Given the description of an element on the screen output the (x, y) to click on. 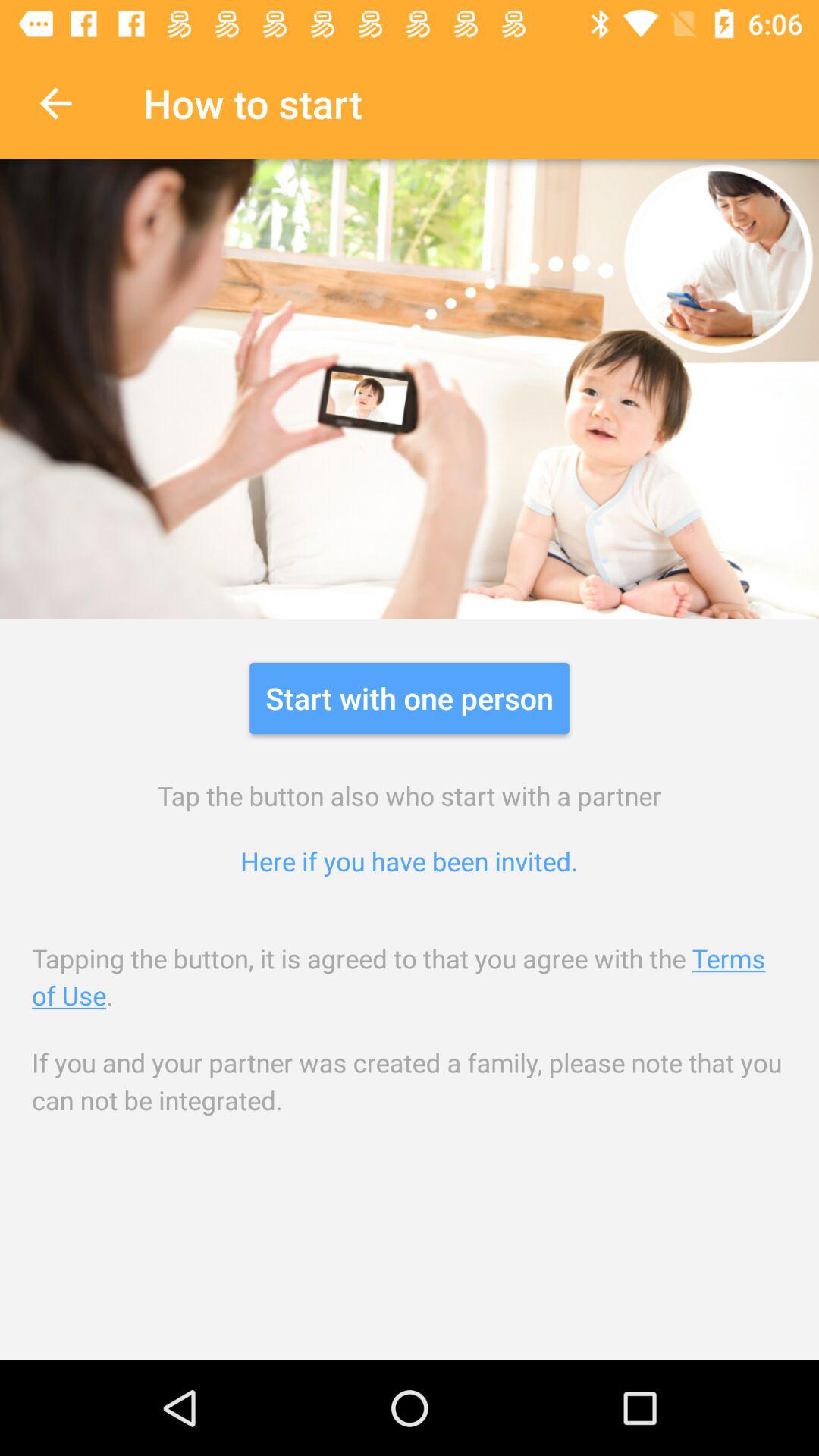
turn on the item next to how to start icon (55, 103)
